Given the description of an element on the screen output the (x, y) to click on. 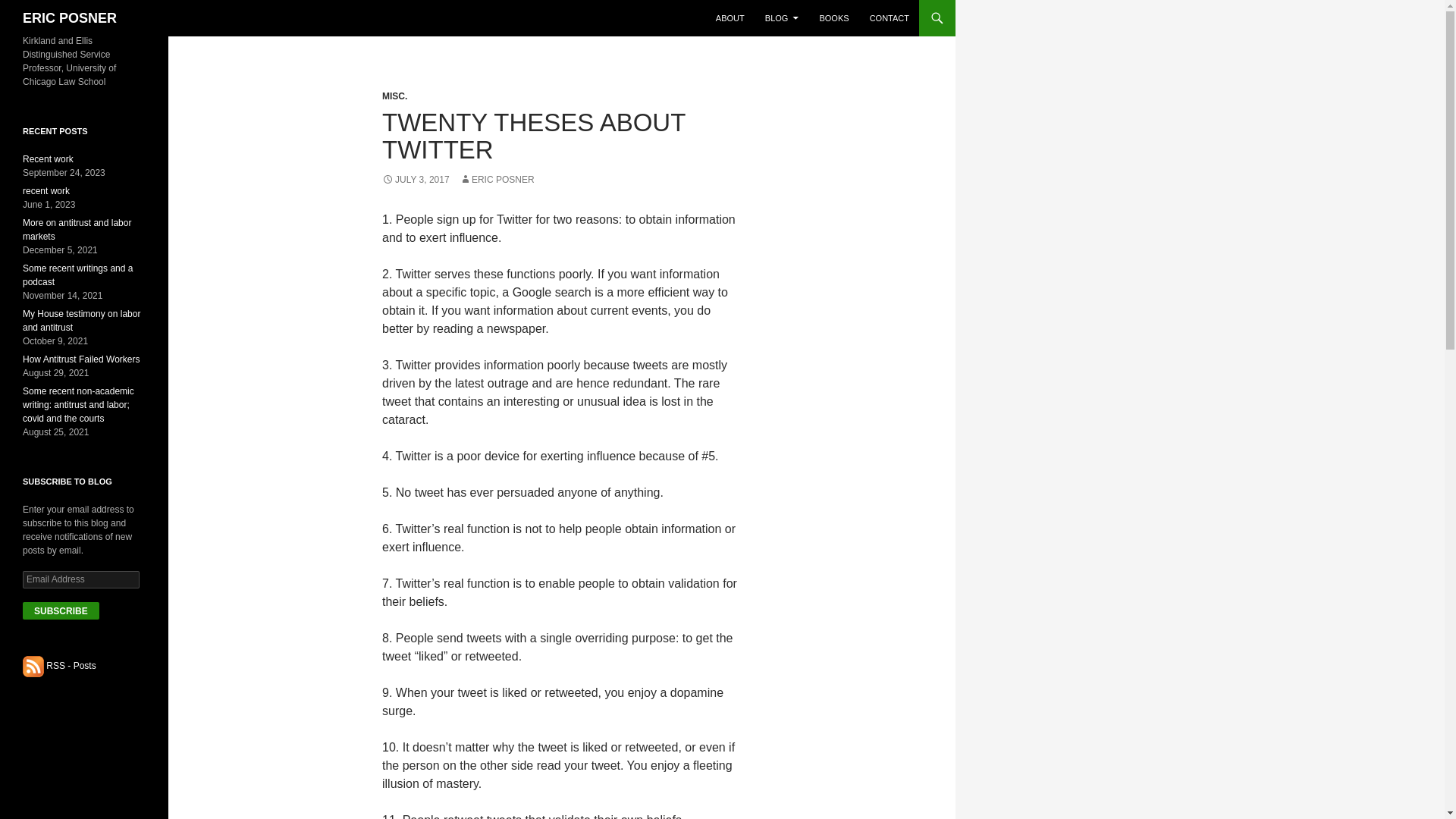
Subscribe (61, 610)
Subscribe to Posts (33, 665)
BLOG (781, 18)
BOOKS (833, 18)
ABOUT (730, 18)
Subscribe (61, 610)
How Antitrust Failed Workers (81, 358)
recent work (46, 190)
ERIC POSNER (69, 17)
Some recent writings and a podcast (77, 274)
ERIC POSNER (497, 179)
Contact Eric Posner (889, 18)
CONTACT (889, 18)
Recent work (48, 158)
